Given the description of an element on the screen output the (x, y) to click on. 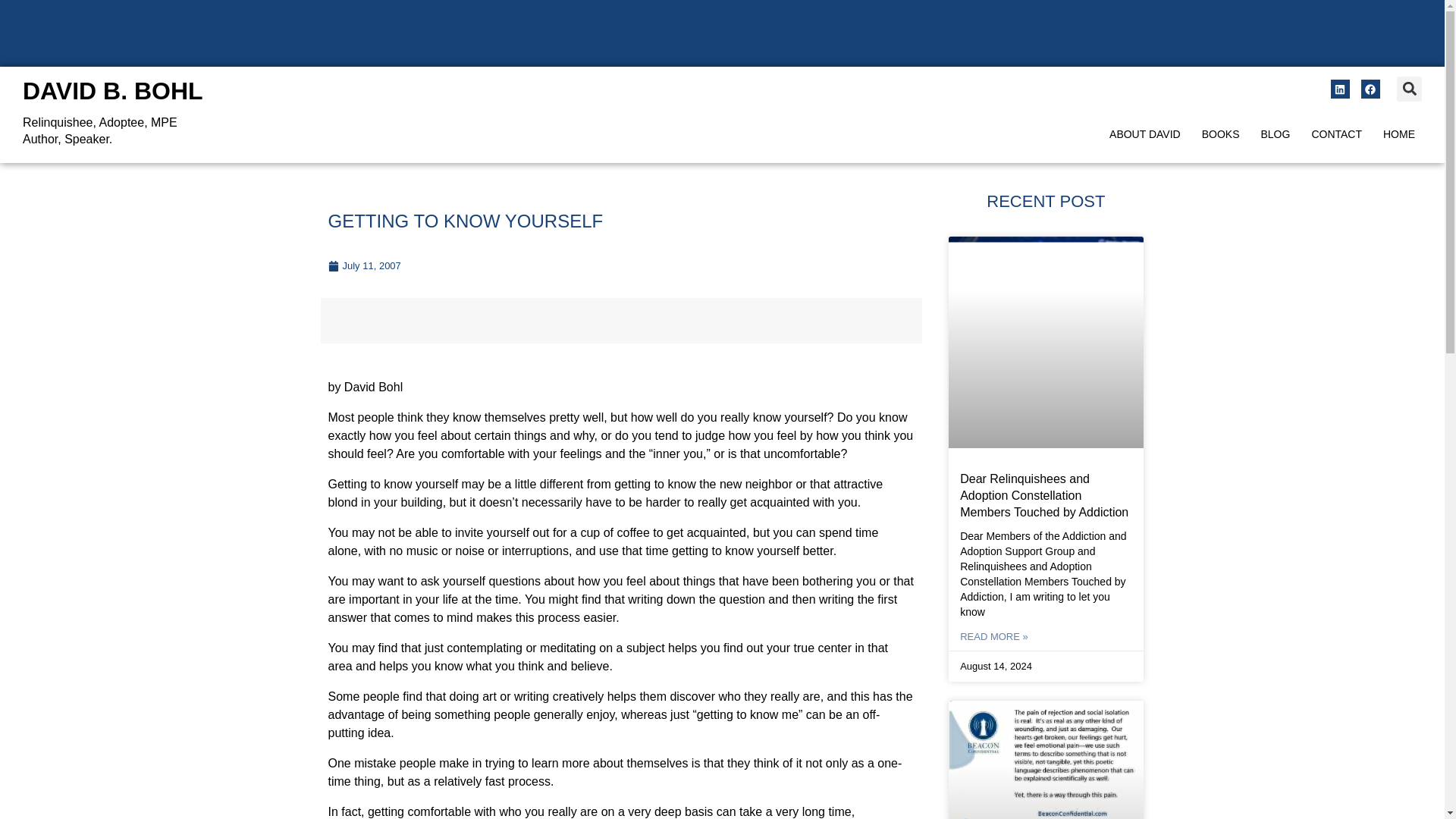
BLOG (1275, 134)
HOME (1398, 134)
CONTACT (1336, 134)
July 11, 2007 (363, 266)
DAVID B. BOHL (113, 90)
BOOKS (1220, 134)
ABOUT DAVID (1145, 134)
